Given the description of an element on the screen output the (x, y) to click on. 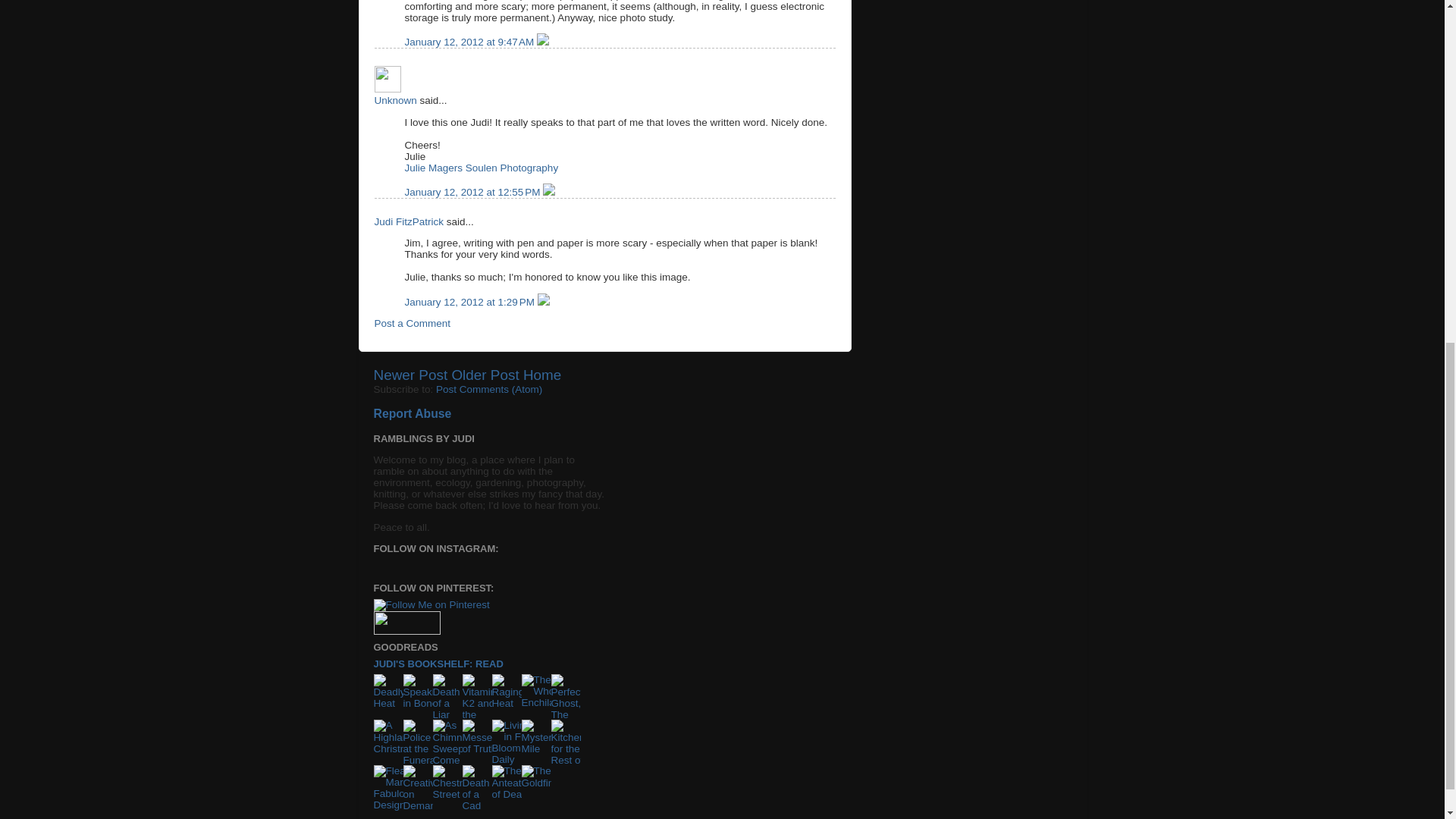
Unknown (395, 100)
Judi FitzPatrick (409, 221)
Julie Magers Soulen Photography (481, 167)
